Given the description of an element on the screen output the (x, y) to click on. 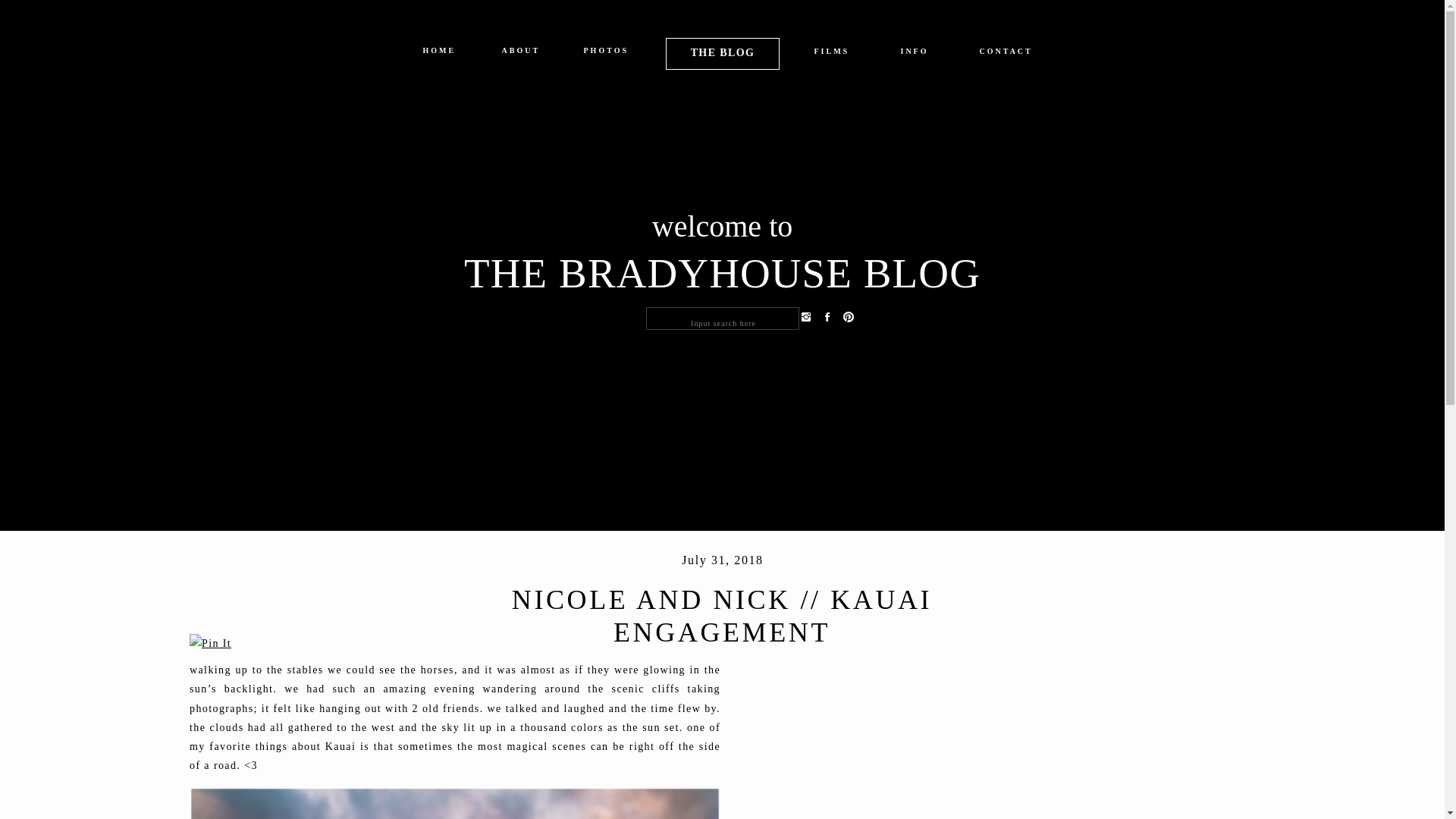
ABOUT (520, 53)
PHOTOS (605, 53)
FILMS (831, 54)
Pin It (210, 642)
THE BLOG (722, 51)
CONTACT (1004, 54)
INFO (914, 54)
HOME (439, 53)
